Given the description of an element on the screen output the (x, y) to click on. 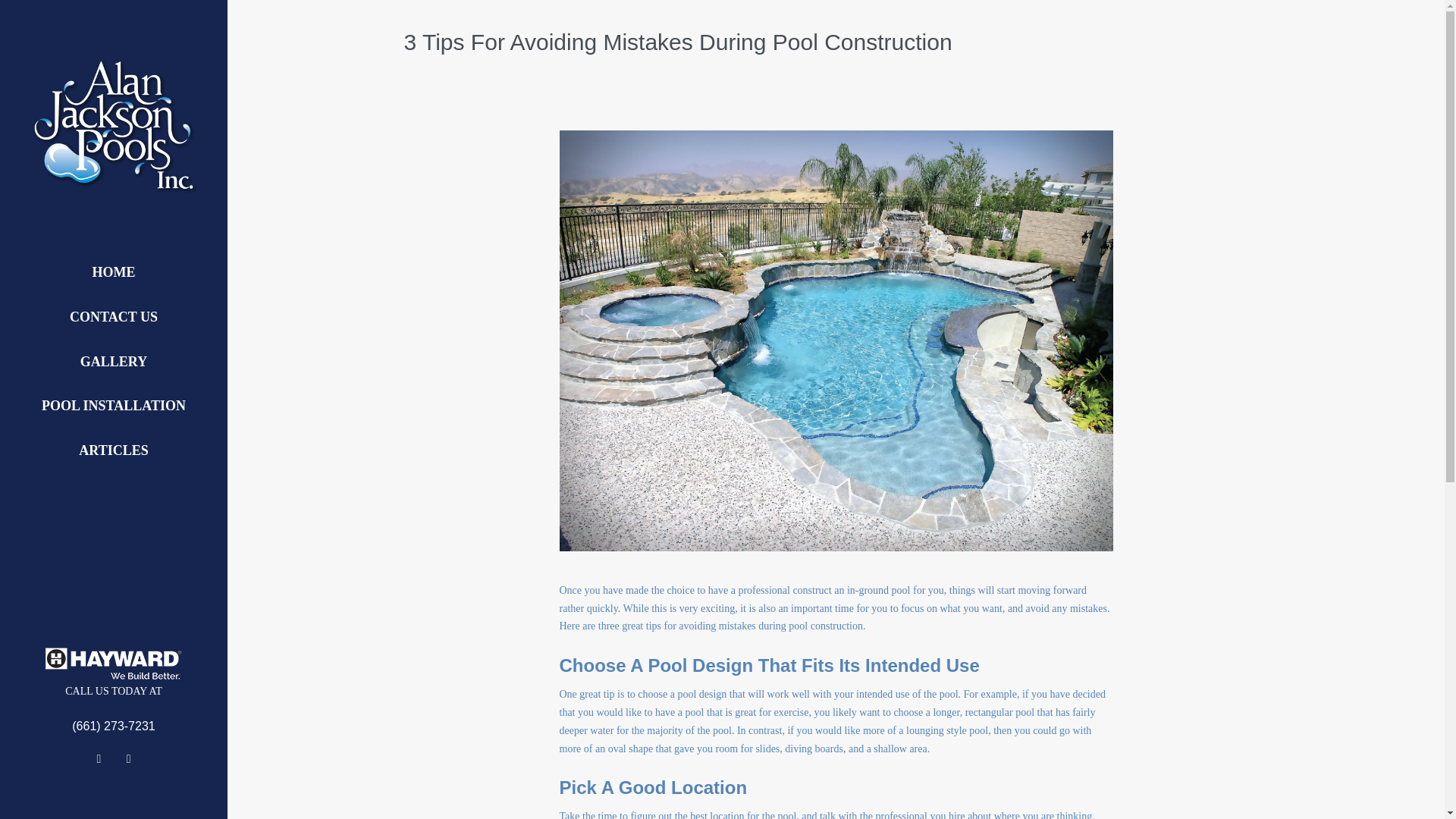
GALLERY (113, 361)
POOL INSTALLATION (113, 406)
CONTACT US (113, 316)
ARTICLES (113, 450)
HOME (113, 272)
